Given the description of an element on the screen output the (x, y) to click on. 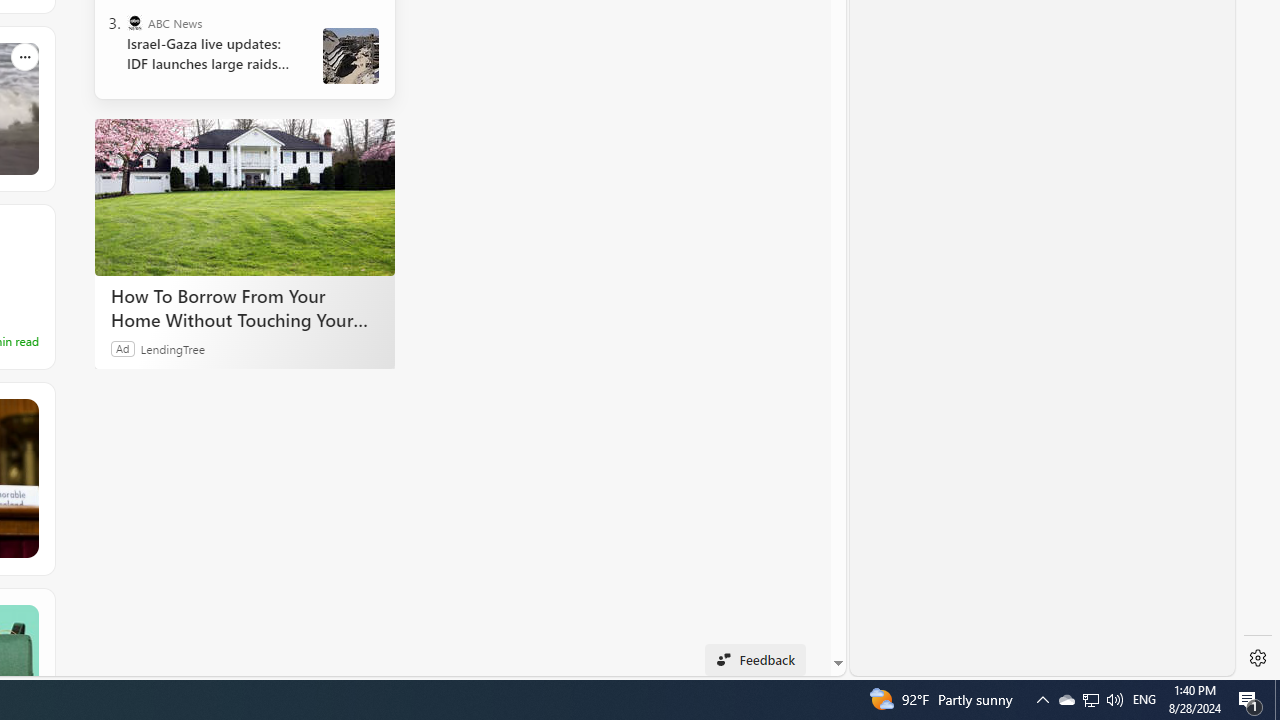
LendingTree (172, 348)
Settings (1258, 658)
ABC News (134, 22)
How To Borrow From Your Home Without Touching Your Mortgage (244, 307)
How To Borrow From Your Home Without Touching Your Mortgage (244, 196)
